Given the description of an element on the screen output the (x, y) to click on. 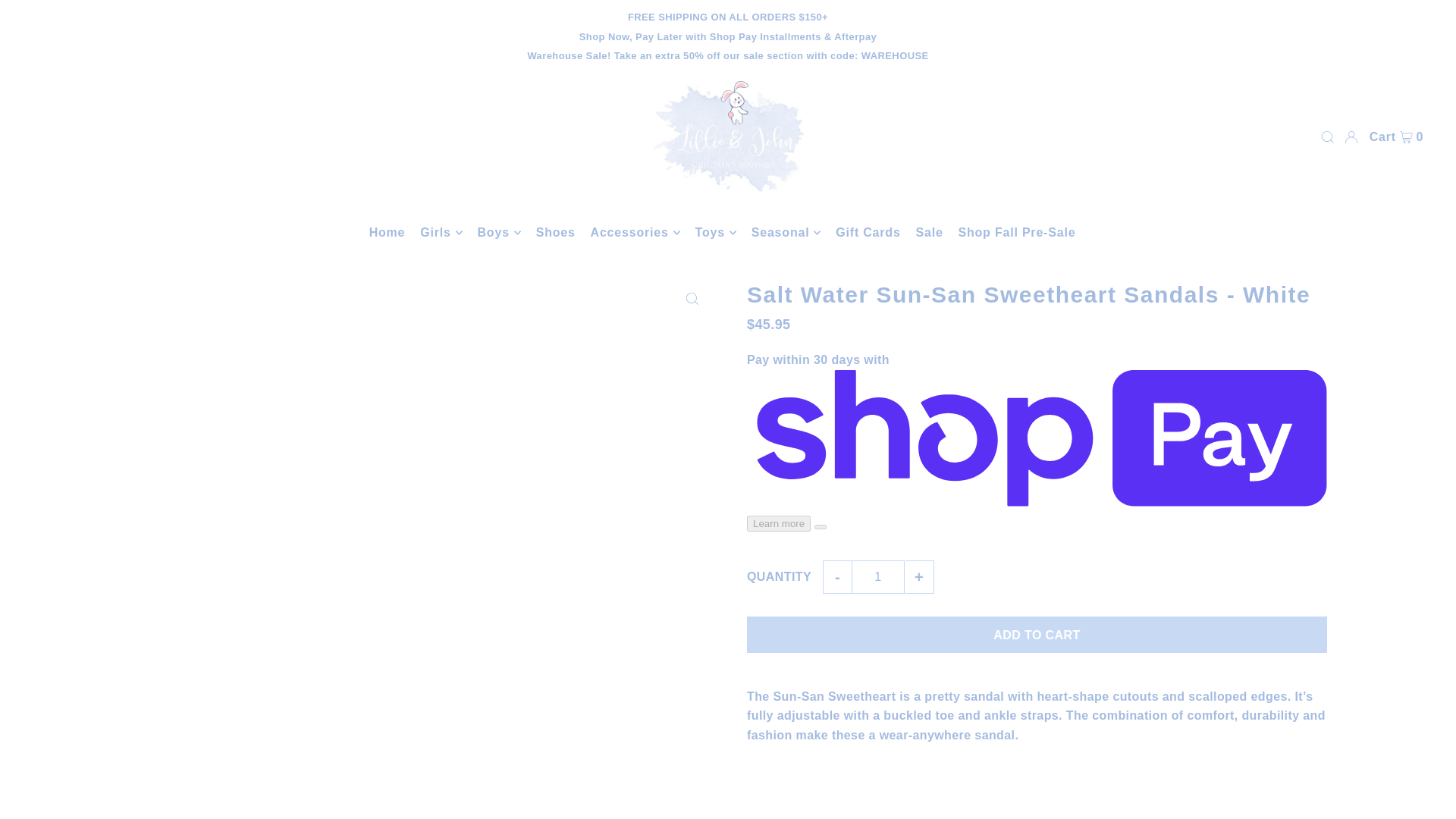
Add to Cart (1036, 634)
Cart (1396, 136)
1 (877, 576)
Click to zoom (692, 298)
